Given the description of an element on the screen output the (x, y) to click on. 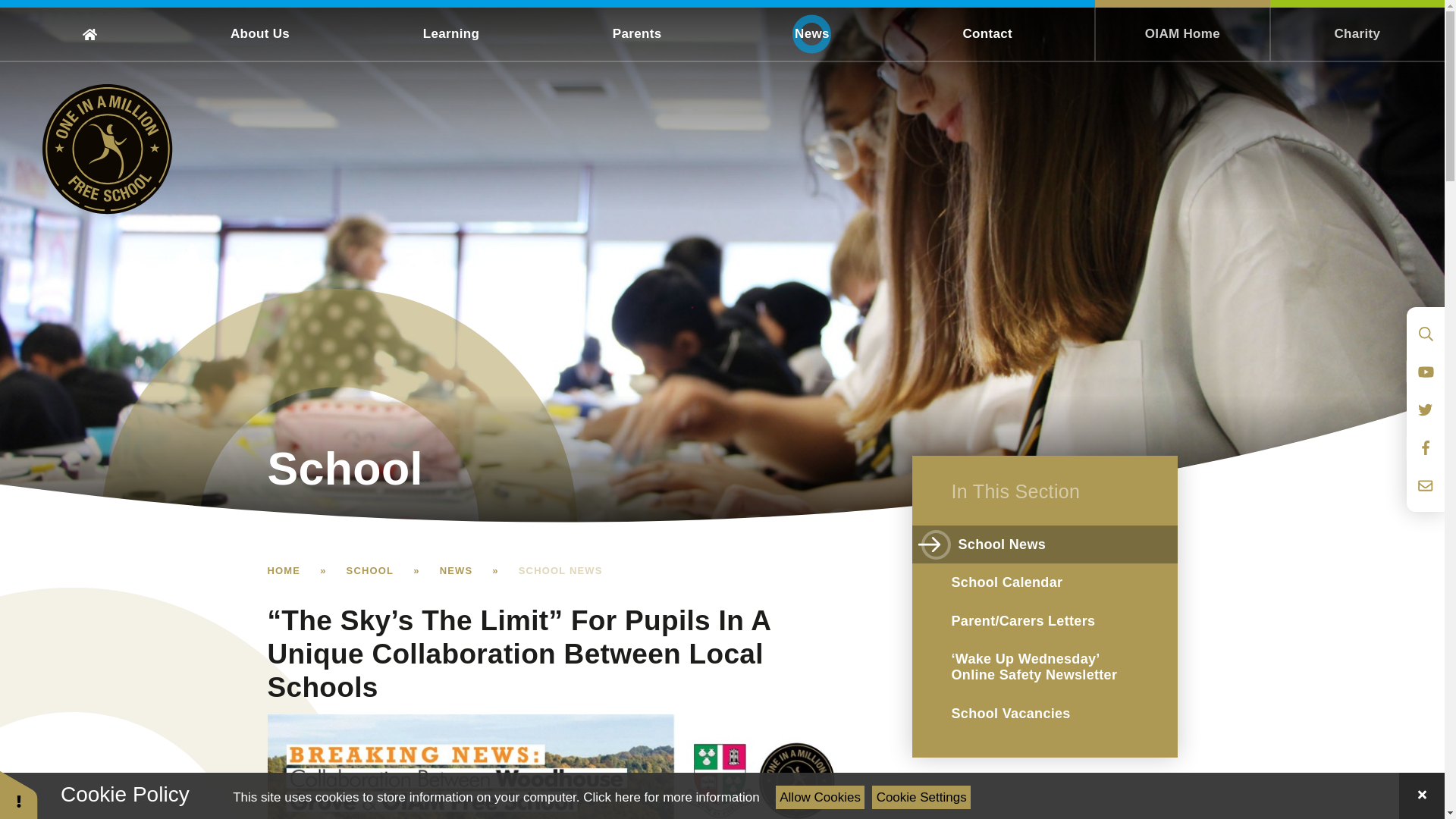
Cookie Settings (921, 797)
OIAM Home (1181, 30)
See cookie policy (670, 797)
Allow Cookies (820, 797)
Learning (450, 33)
About Us (259, 33)
